Given the description of an element on the screen output the (x, y) to click on. 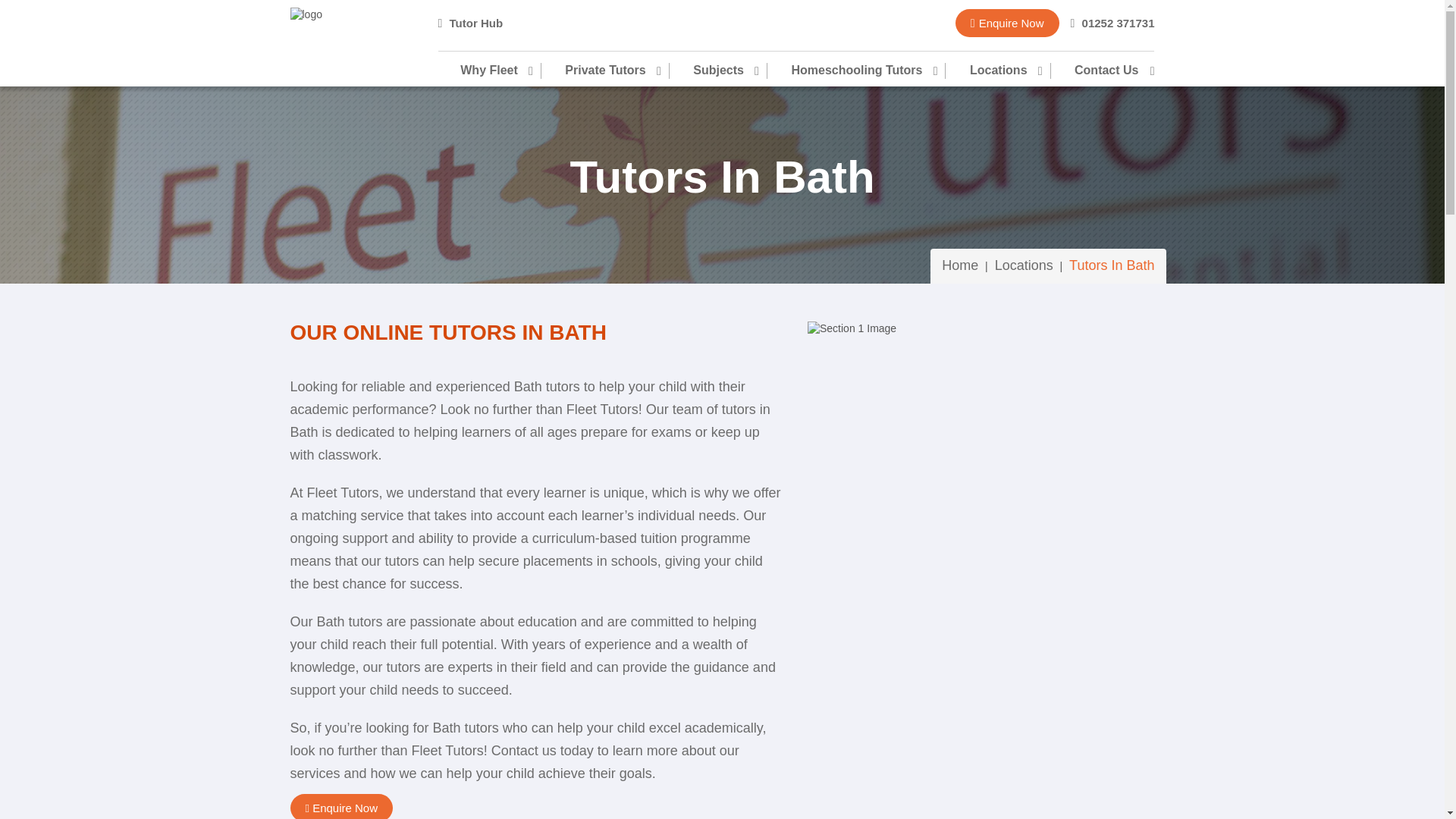
Enquire Now (1007, 22)
Private Tutors (604, 70)
Go to Locations. (1023, 264)
Tutor Hub (470, 22)
01252 371731 (1112, 22)
Go to Fleet Tutors. (960, 264)
Subjects (717, 70)
Why Fleet (500, 70)
